Given the description of an element on the screen output the (x, y) to click on. 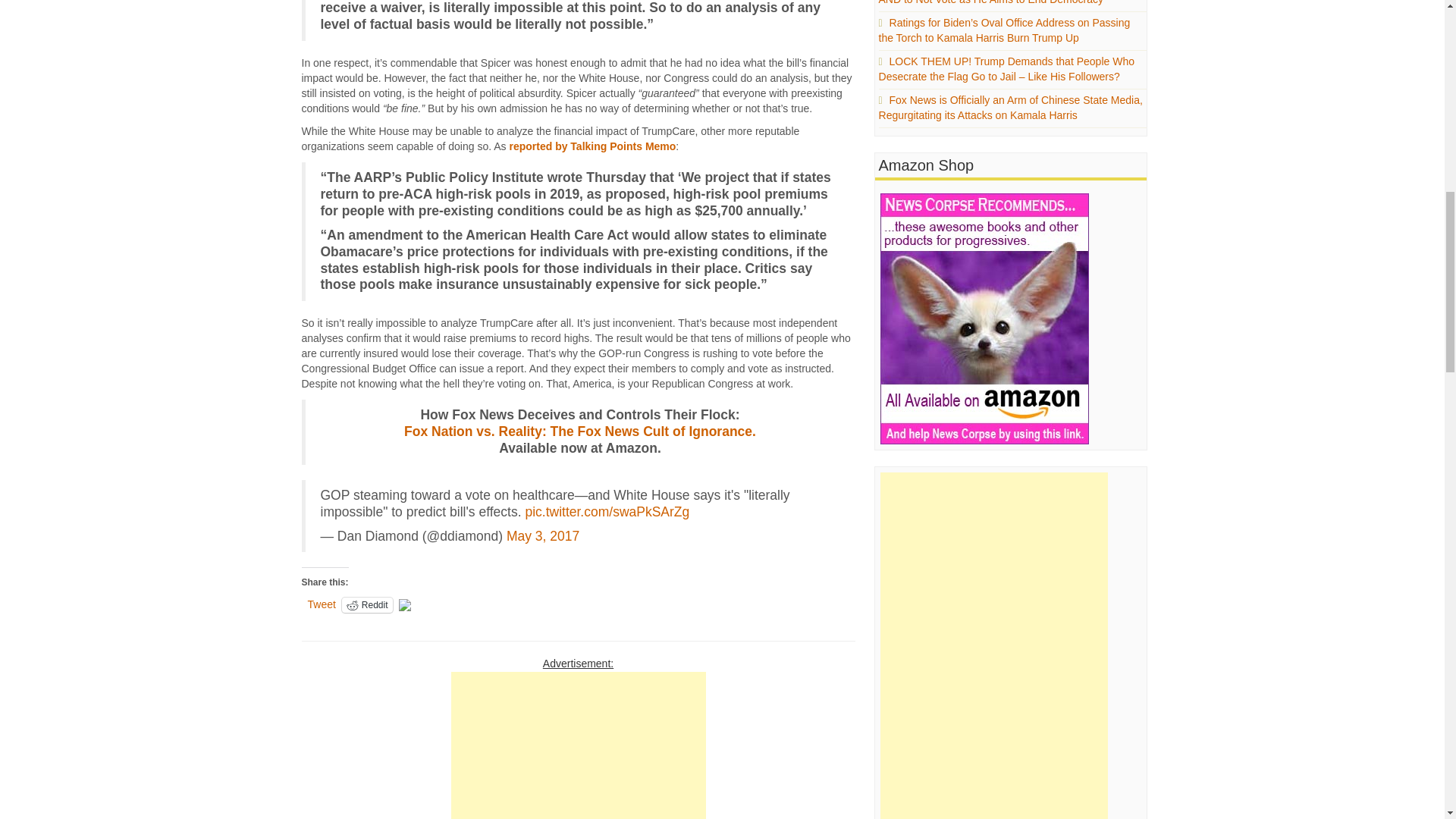
Click to share on Reddit (367, 604)
May 3, 2017 (542, 535)
Fox Nation vs. Reality: The Fox News Cult of Ignorance. (579, 431)
reported by Talking Points Memo (591, 146)
Reddit (367, 604)
Tweet (321, 603)
